Given the description of an element on the screen output the (x, y) to click on. 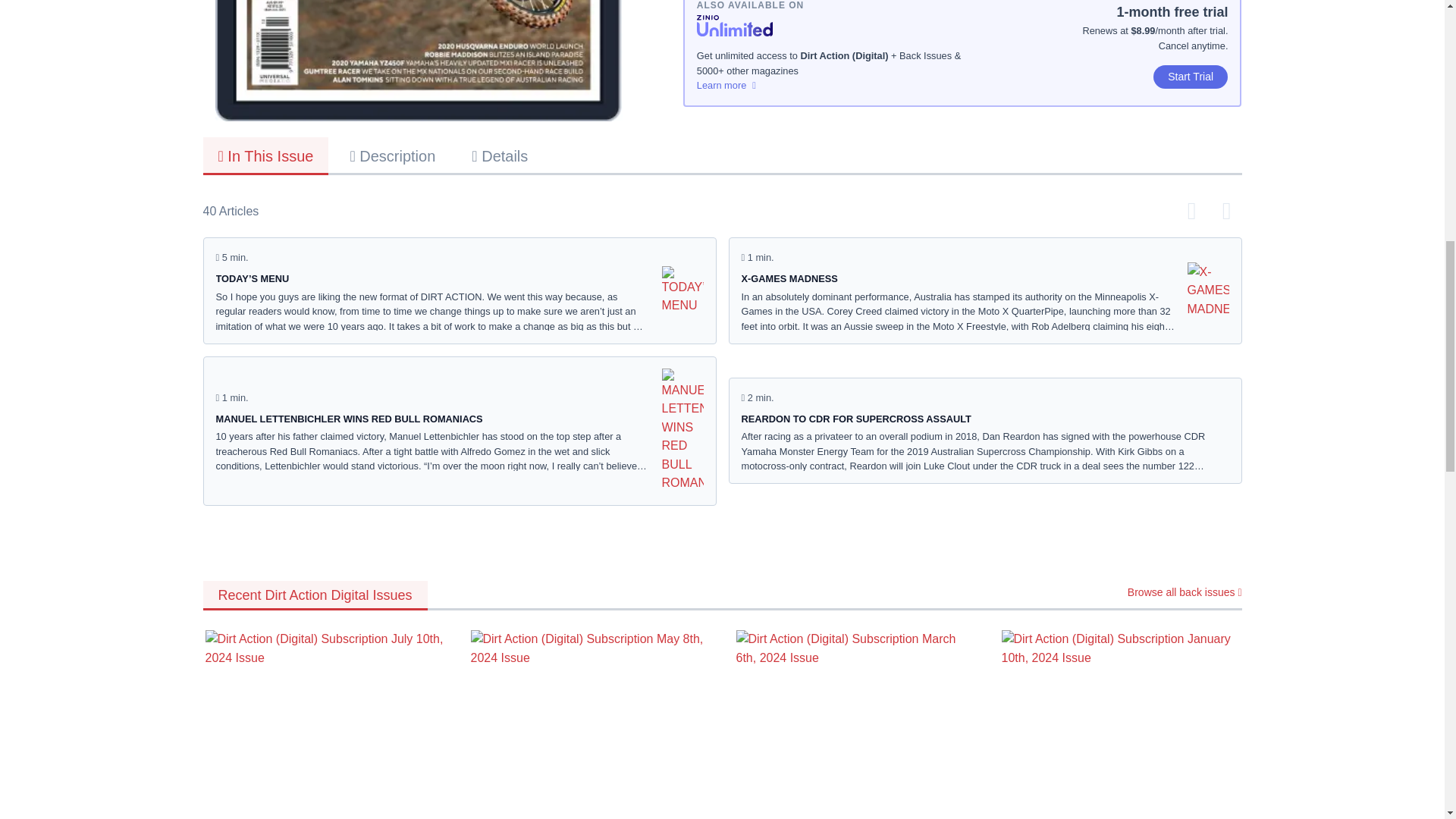
Description (391, 154)
Start Trial (1190, 76)
Dirt Action November 1st, 2019 Digital Back Issue Cover (419, 60)
Learn more (829, 85)
Details (500, 154)
In This Issue (266, 156)
